Given the description of an element on the screen output the (x, y) to click on. 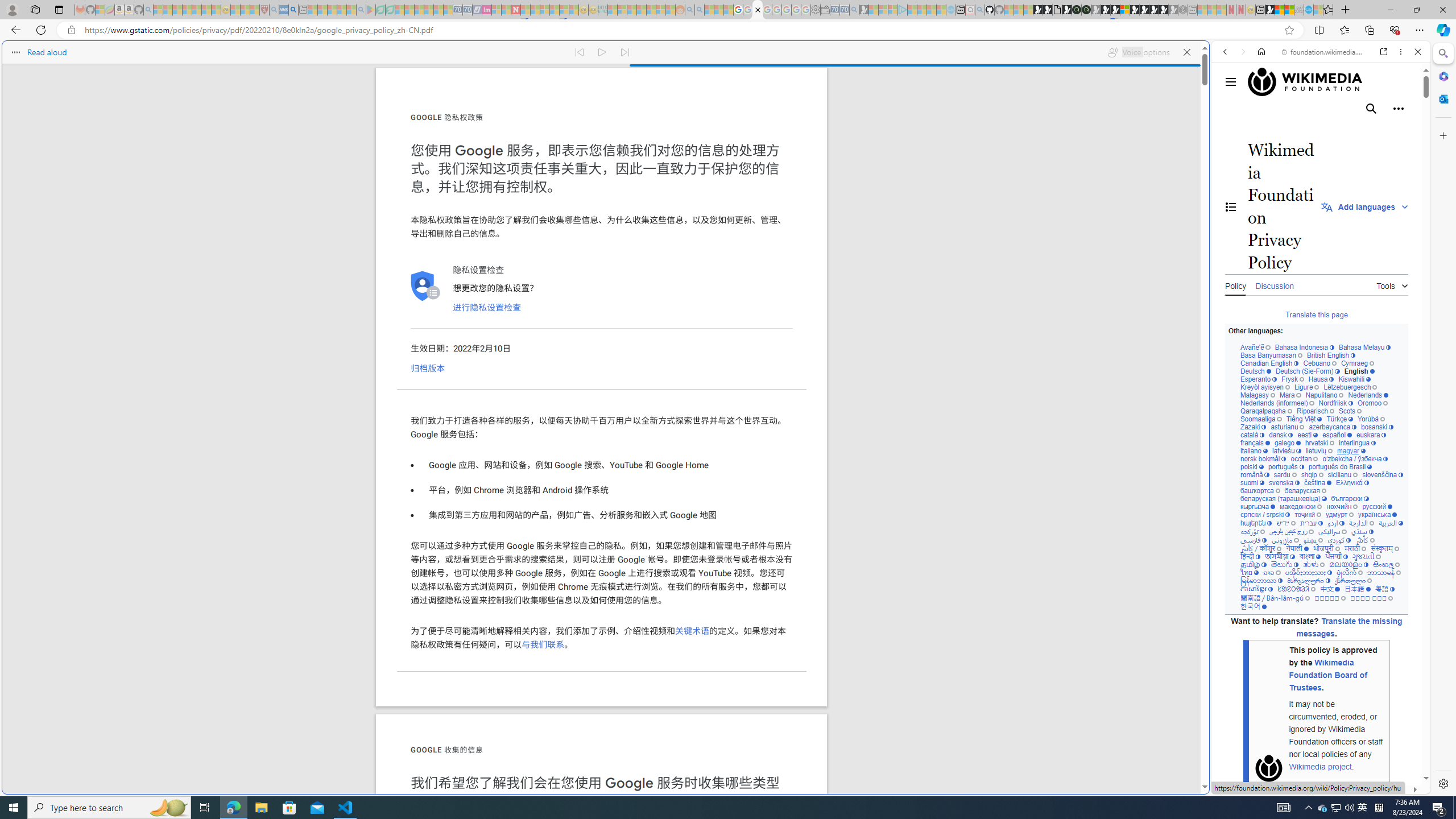
sardu (1285, 474)
magyar (1350, 451)
